Given the description of an element on the screen output the (x, y) to click on. 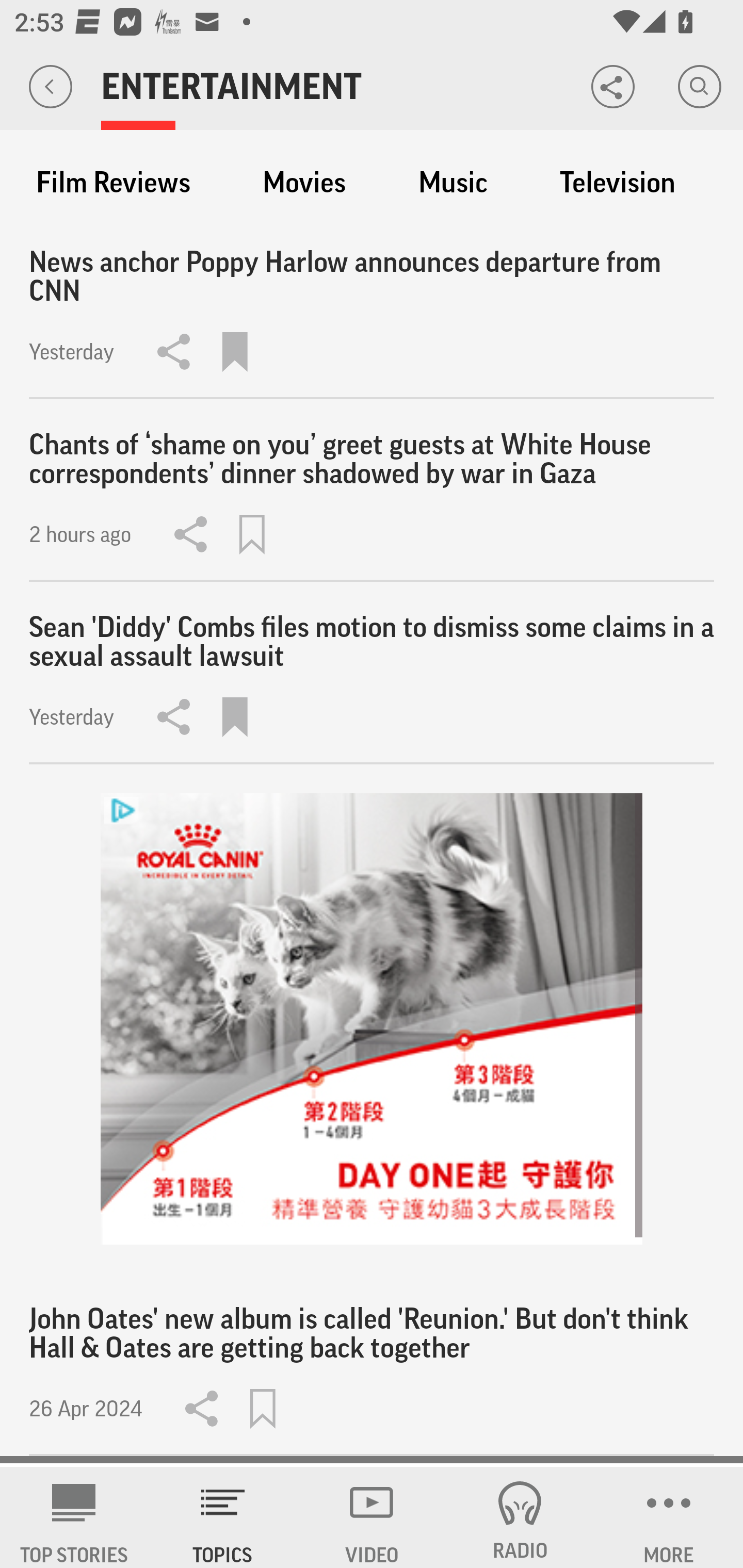
Film Reviews (112, 182)
Movies (304, 182)
Music (452, 182)
Television (617, 182)
ooulh2nc_300x250 (371, 1018)
AP News TOP STORIES (74, 1517)
TOPICS (222, 1517)
VIDEO (371, 1517)
RADIO (519, 1517)
MORE (668, 1517)
